Given the description of an element on the screen output the (x, y) to click on. 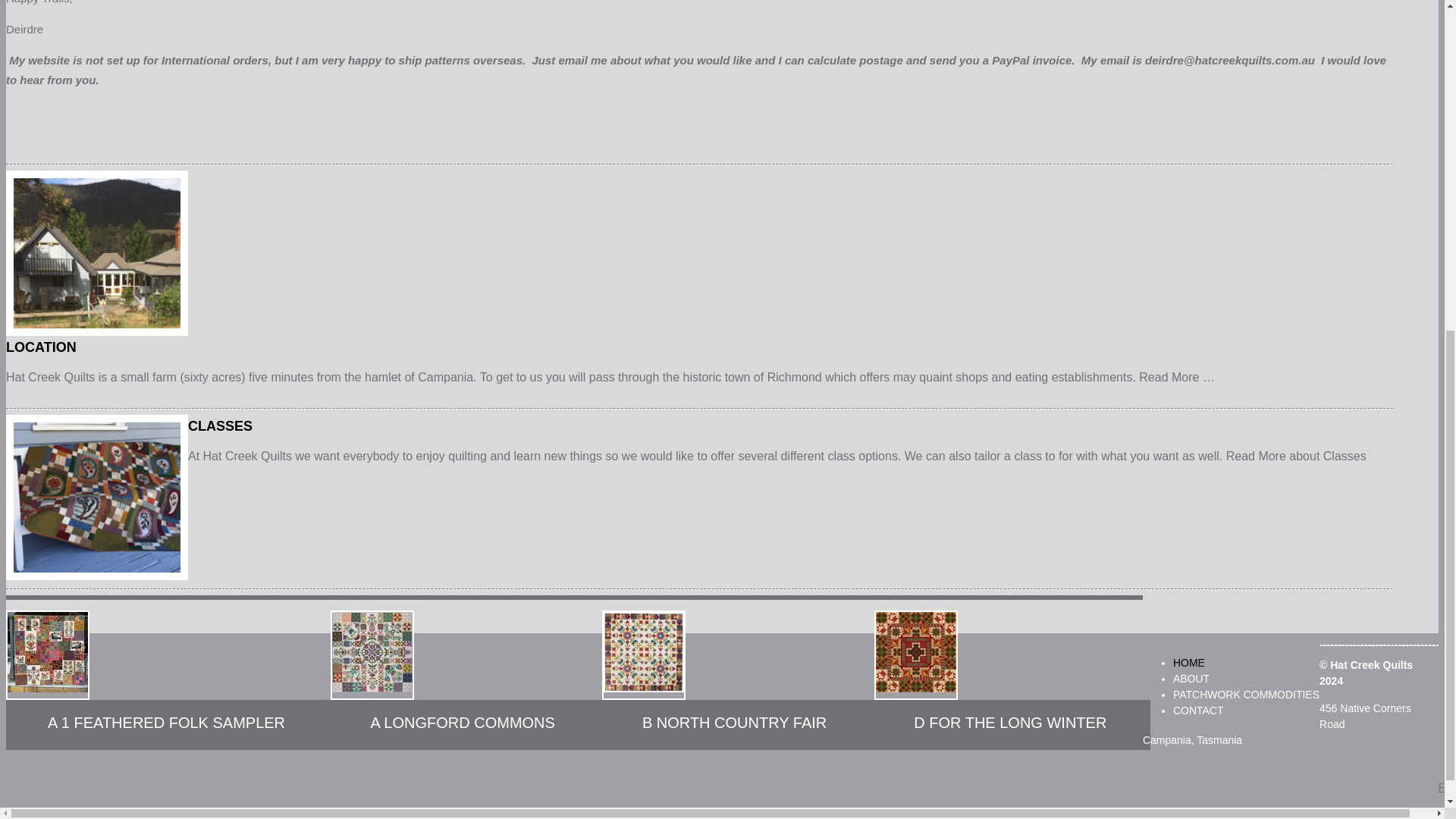
LOCATION (609, 347)
Read more about our location (1176, 377)
HOME (1189, 662)
PATCHWORK COMMODITIES (1246, 694)
Contact (1198, 710)
Classes (1345, 455)
B North Country Fair (643, 655)
ABOUT (1191, 678)
CONTACT (1198, 710)
A 1 Feathered Folk Sampler (46, 655)
